Given the description of an element on the screen output the (x, y) to click on. 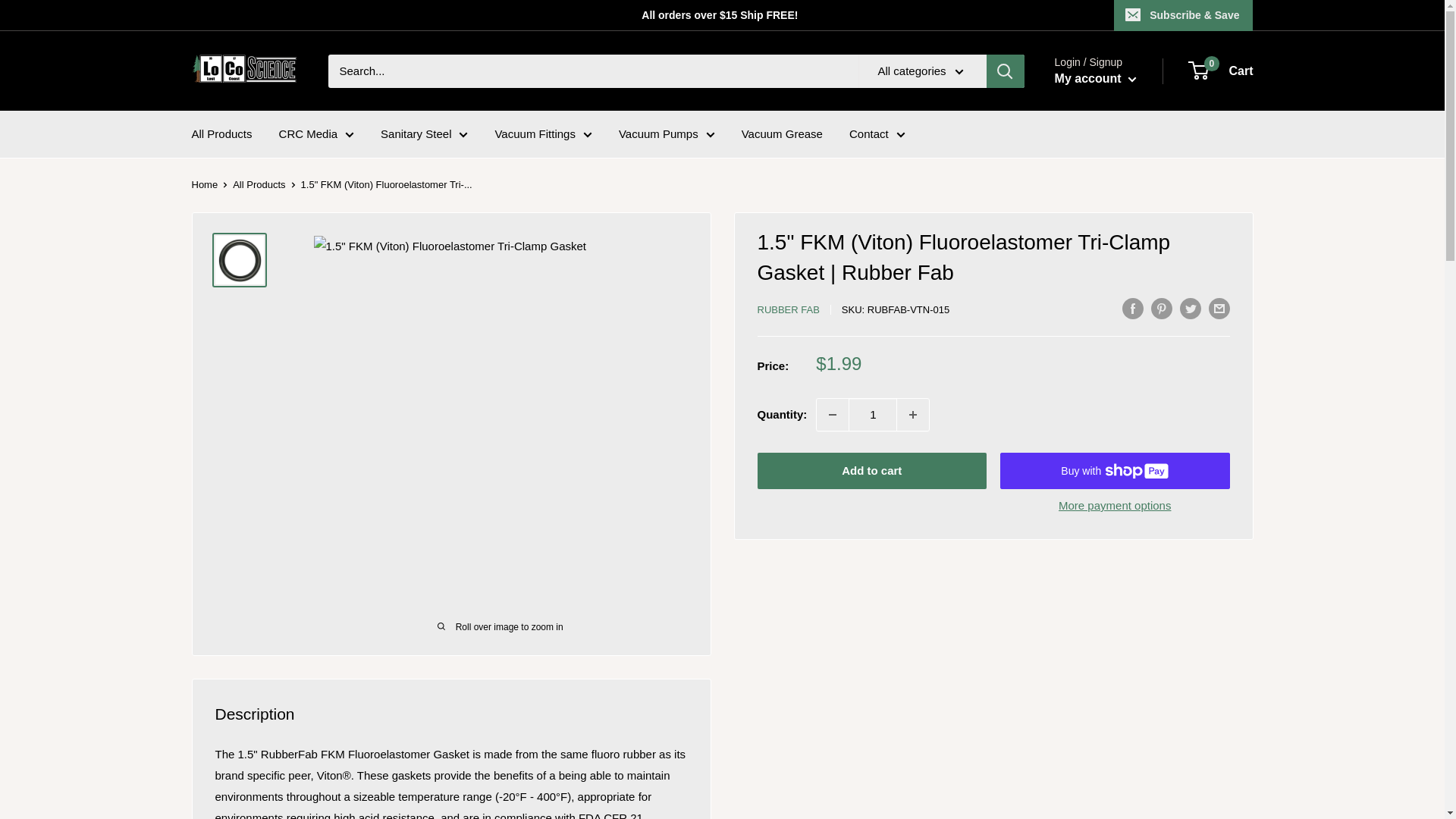
1 (872, 414)
Increase quantity by 1 (912, 414)
Decrease quantity by 1 (832, 414)
